Given the description of an element on the screen output the (x, y) to click on. 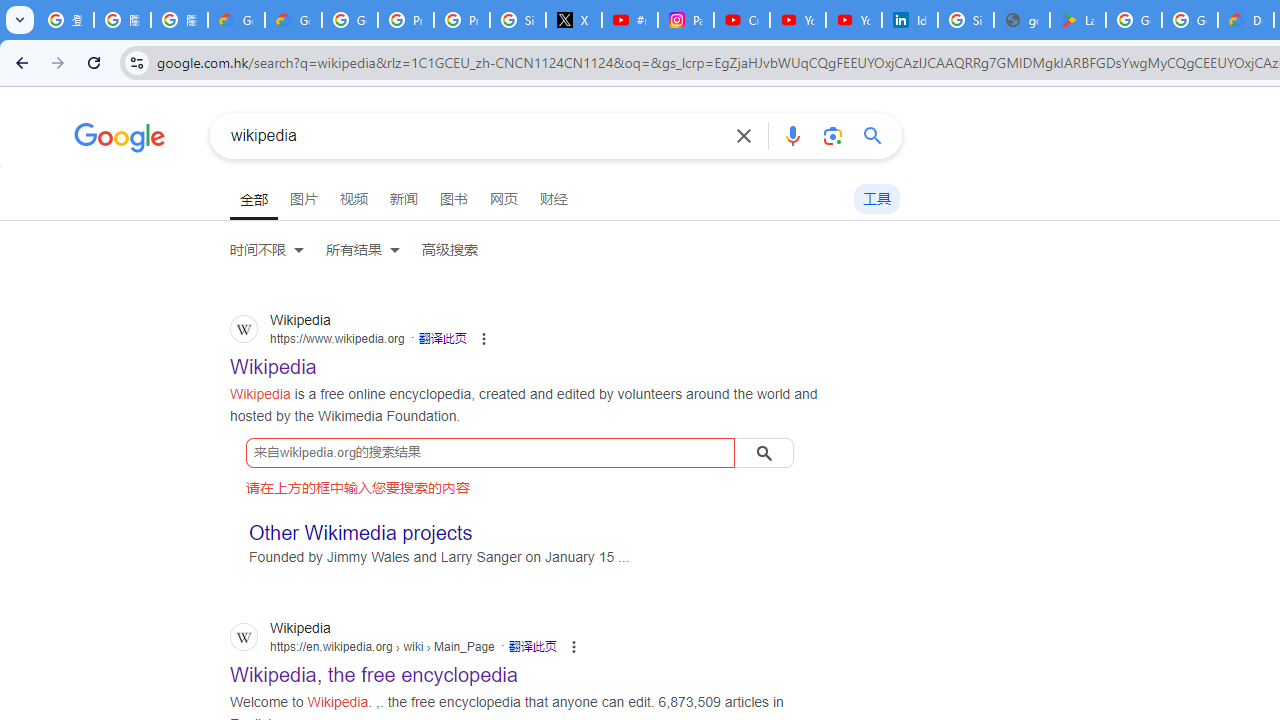
X (573, 20)
Google Cloud Privacy Notice (235, 20)
Last Shelter: Survival - Apps on Google Play (1077, 20)
Privacy Help Center - Policies Help (461, 20)
